Given the description of an element on the screen output the (x, y) to click on. 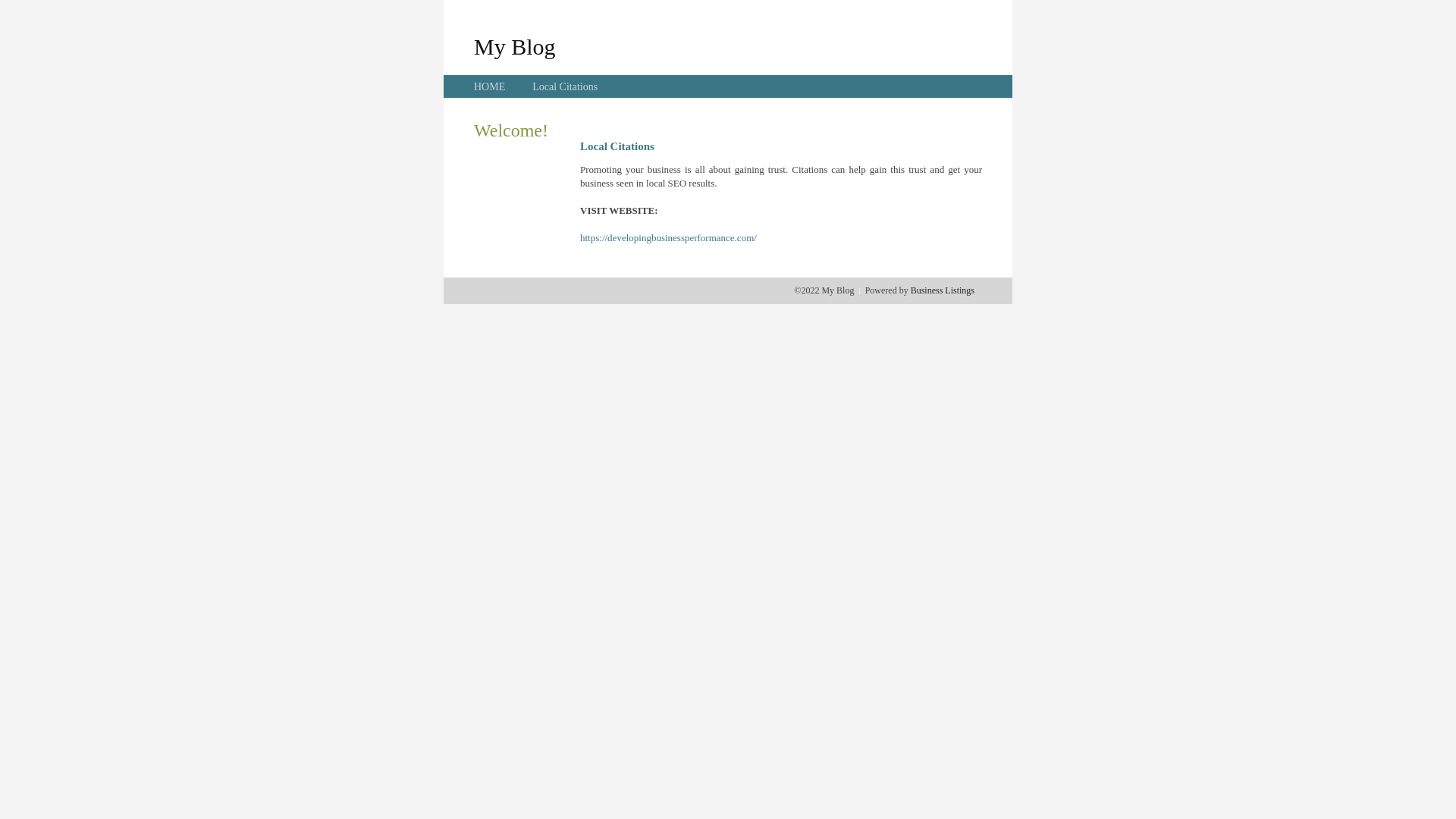
Local Citations Element type: text (564, 86)
HOME Element type: text (489, 86)
https://developingbusinessperformance.com/ Element type: text (668, 237)
Business Listings Element type: text (942, 290)
My Blog Element type: text (514, 46)
